Given the description of an element on the screen output the (x, y) to click on. 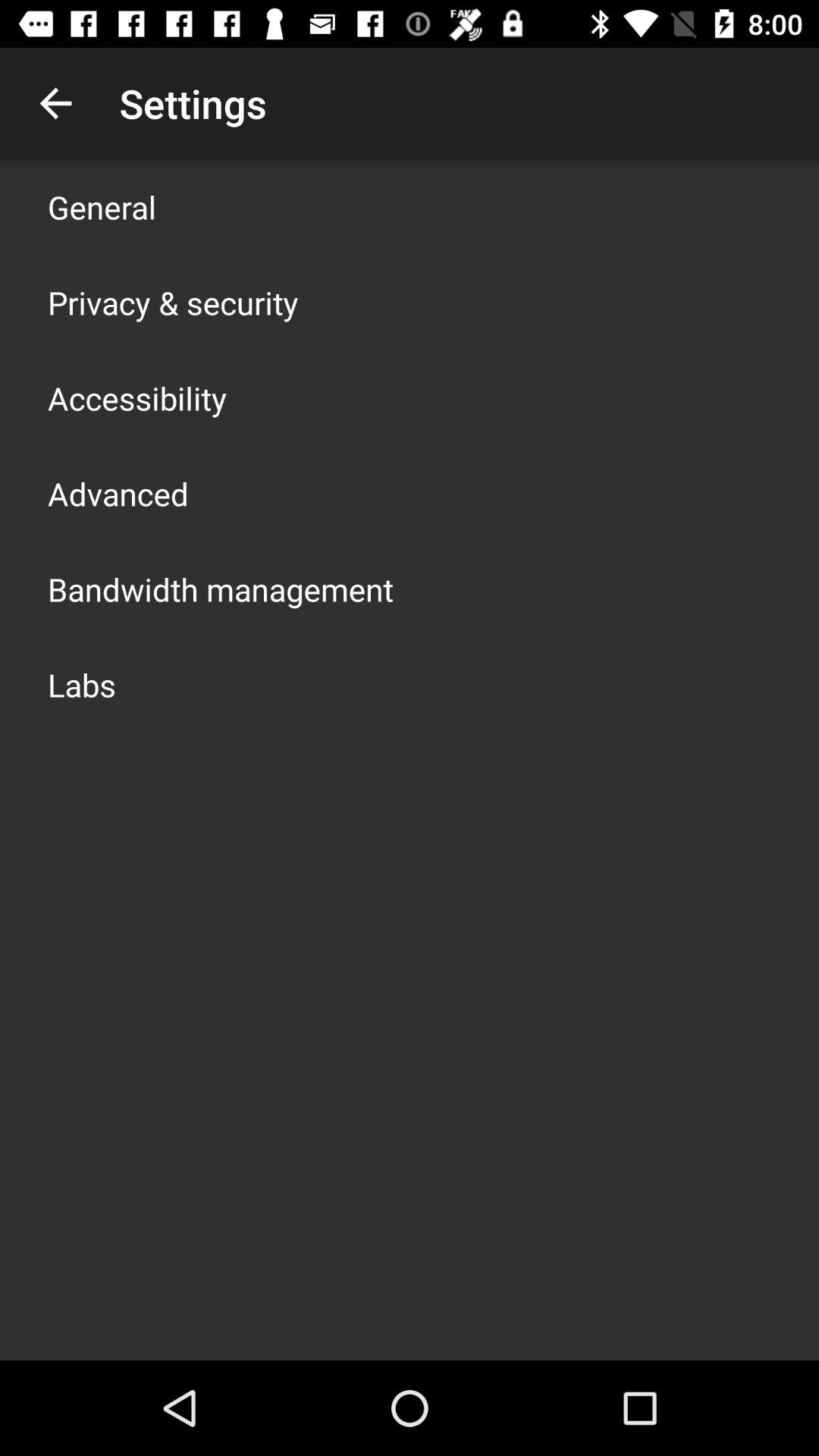
jump until bandwidth management app (220, 588)
